Given the description of an element on the screen output the (x, y) to click on. 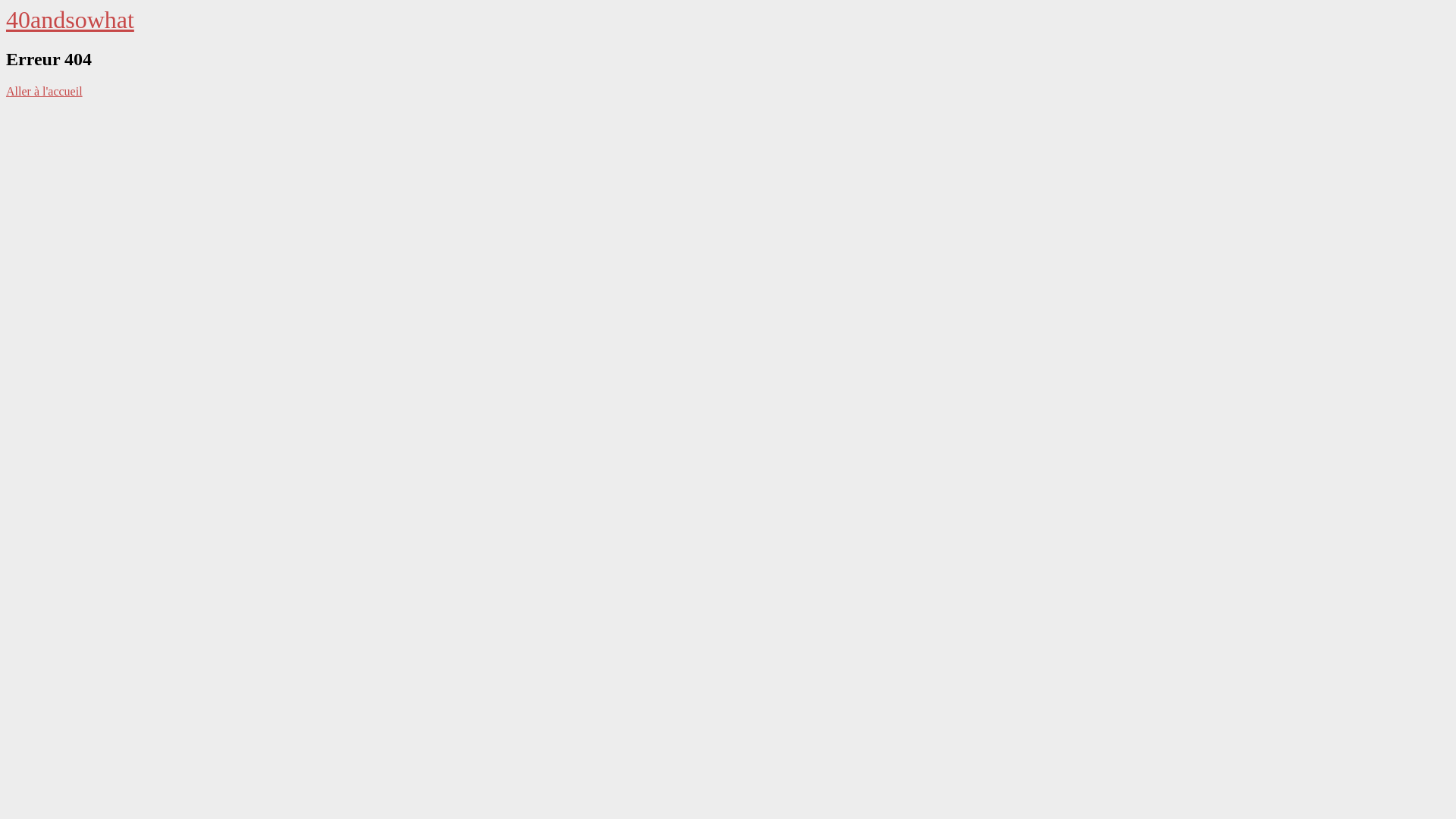
40andsowhat Element type: text (70, 19)
